Given the description of an element on the screen output the (x, y) to click on. 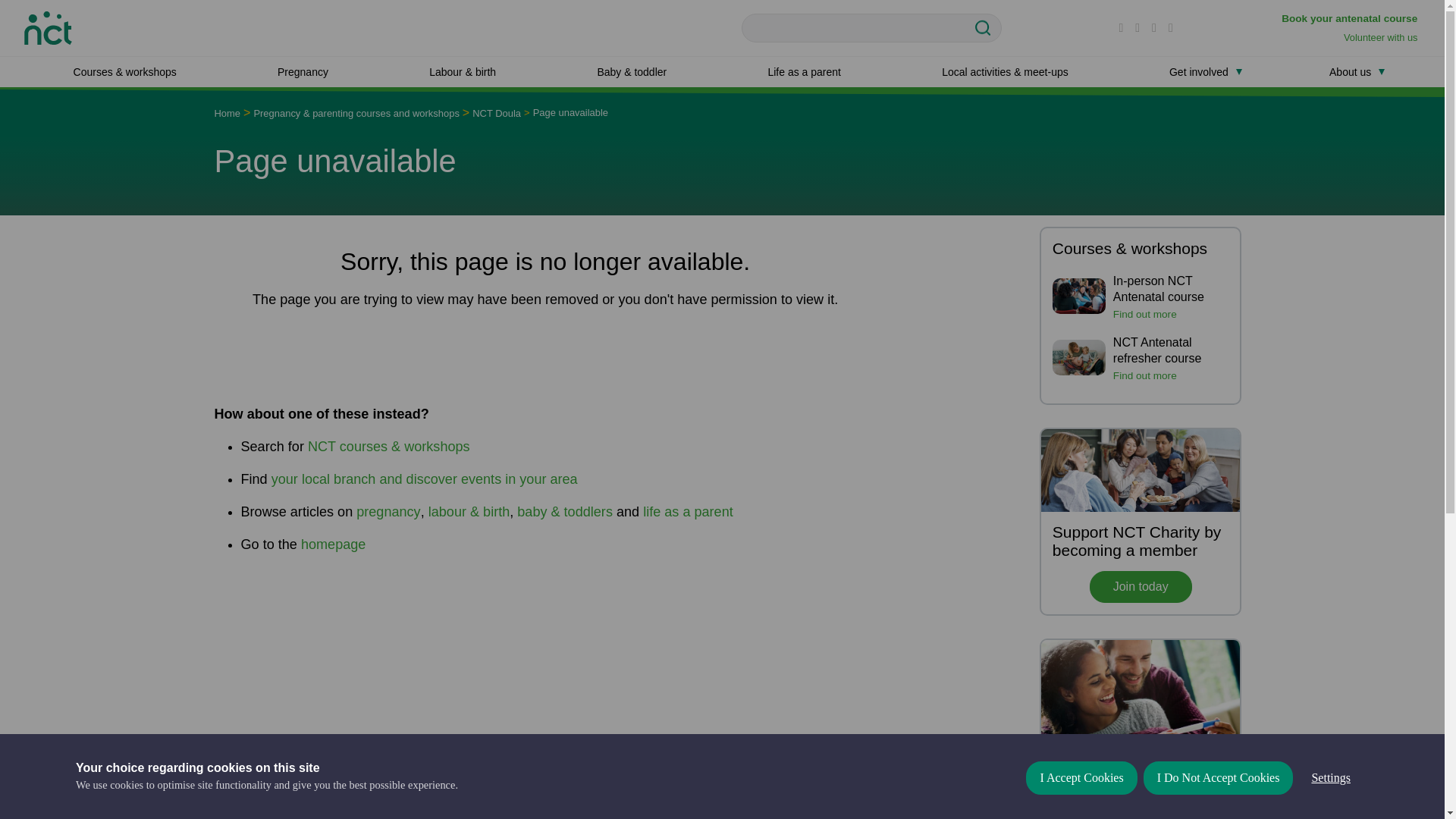
Volunteer with us  (1382, 37)
Home (227, 112)
Search (987, 28)
Search (987, 28)
Dropdown menu button (1238, 72)
Evidenced-based information about life as a parent (804, 71)
Book your antenatal course (1351, 18)
Home (47, 26)
About us (1350, 71)
Book your antenatal course  (1351, 18)
